Given the description of an element on the screen output the (x, y) to click on. 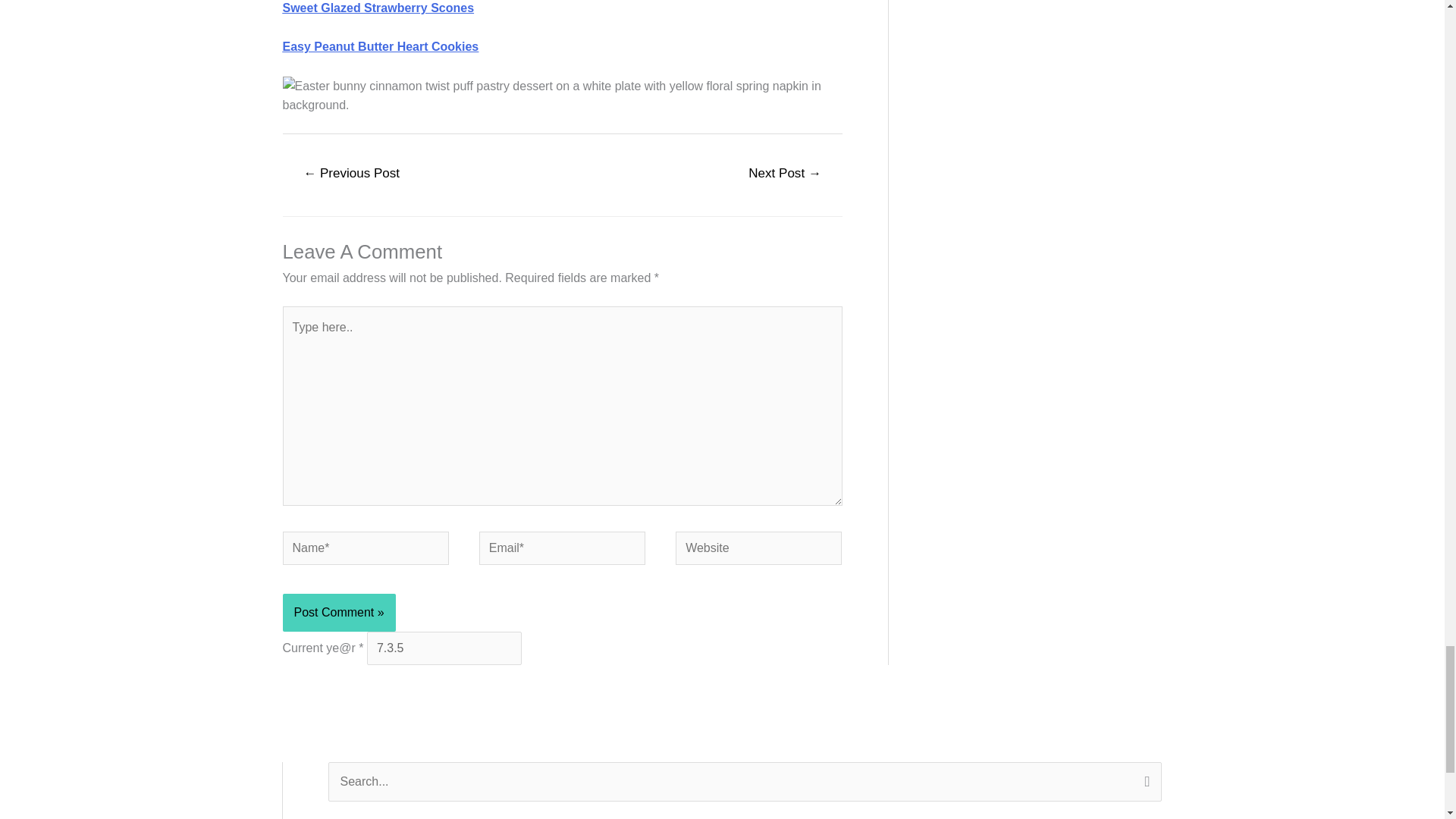
7.3.5 (443, 648)
